Given the description of an element on the screen output the (x, y) to click on. 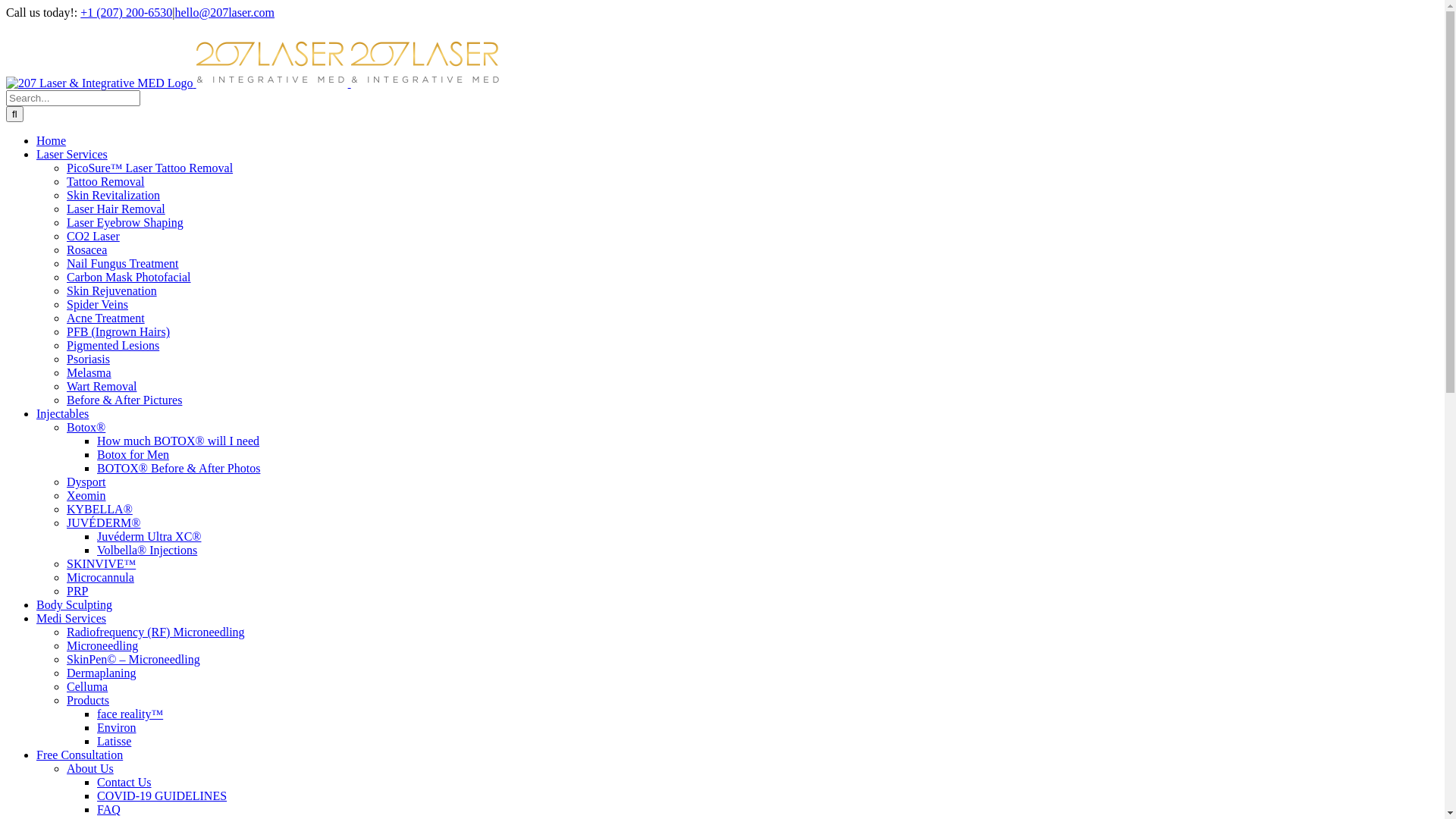
COVID-19 GUIDELINES Element type: text (161, 795)
Skin Rejuvenation Element type: text (111, 290)
Radiofrequency (RF) Microneedling Element type: text (155, 631)
Laser Hair Removal Element type: text (115, 208)
PFB (Ingrown Hairs) Element type: text (117, 331)
About Us Element type: text (89, 768)
Microcannula Element type: text (100, 577)
Laser Services Element type: text (71, 153)
Xeomin Element type: text (86, 495)
PRP Element type: text (76, 590)
Pigmented Lesions Element type: text (112, 344)
FAQ Element type: text (108, 809)
Nail Fungus Treatment Element type: text (122, 263)
Injectables Element type: text (62, 413)
+1 (207) 200-6530 Element type: text (126, 12)
Tattoo Removal Element type: text (105, 181)
Before & After Pictures Element type: text (124, 399)
Celluma Element type: text (86, 686)
Rosacea Element type: text (86, 249)
Contact Us Element type: text (124, 781)
Latisse Element type: text (114, 740)
Psoriasis Element type: text (87, 358)
Botox for Men Element type: text (133, 454)
Dermaplaning Element type: text (101, 672)
Dysport Element type: text (86, 481)
Skin Revitalization Element type: text (113, 194)
Wart Removal Element type: text (101, 385)
Free Consultation Element type: text (79, 754)
Skip to content Element type: text (5, 5)
hello@207laser.com Element type: text (224, 12)
Home Element type: text (50, 140)
Acne Treatment Element type: text (105, 317)
Microneedling Element type: text (102, 645)
Carbon Mask Photofacial Element type: text (128, 276)
CO2 Laser Element type: text (92, 235)
Spider Veins Element type: text (97, 304)
Environ Element type: text (116, 727)
Laser Eyebrow Shaping Element type: text (124, 222)
Body Sculpting Element type: text (74, 604)
Medi Services Element type: text (71, 617)
Products Element type: text (87, 699)
Melasma Element type: text (88, 372)
